Given the description of an element on the screen output the (x, y) to click on. 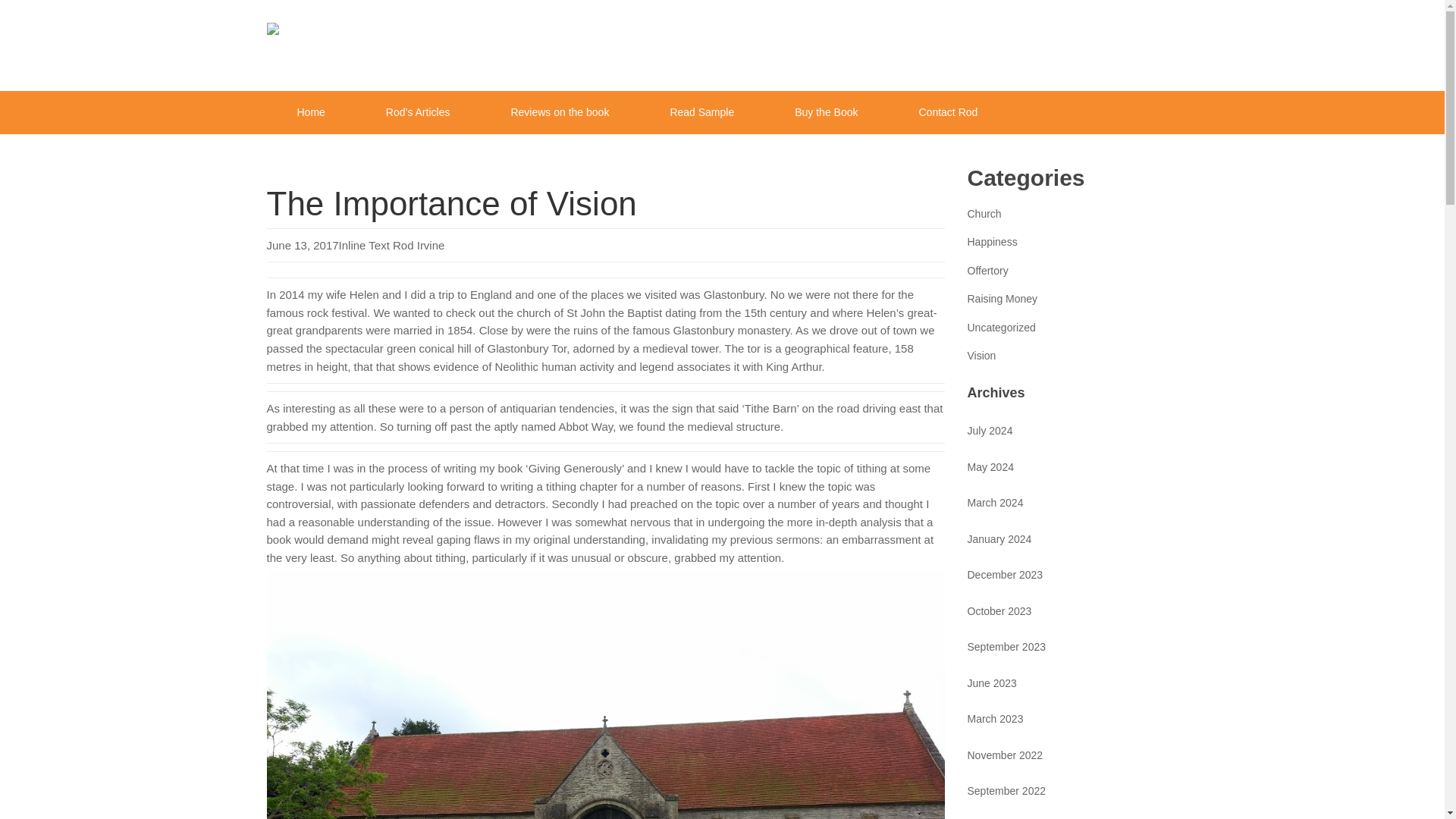
Read Sample (701, 112)
September 2023 (1007, 646)
Church (984, 214)
Contact Rod (948, 112)
Buy the Book (826, 112)
January 2024 (1000, 539)
March 2023 (995, 718)
Raising Money (1003, 298)
June 2023 (992, 683)
Home (310, 112)
